Given the description of an element on the screen output the (x, y) to click on. 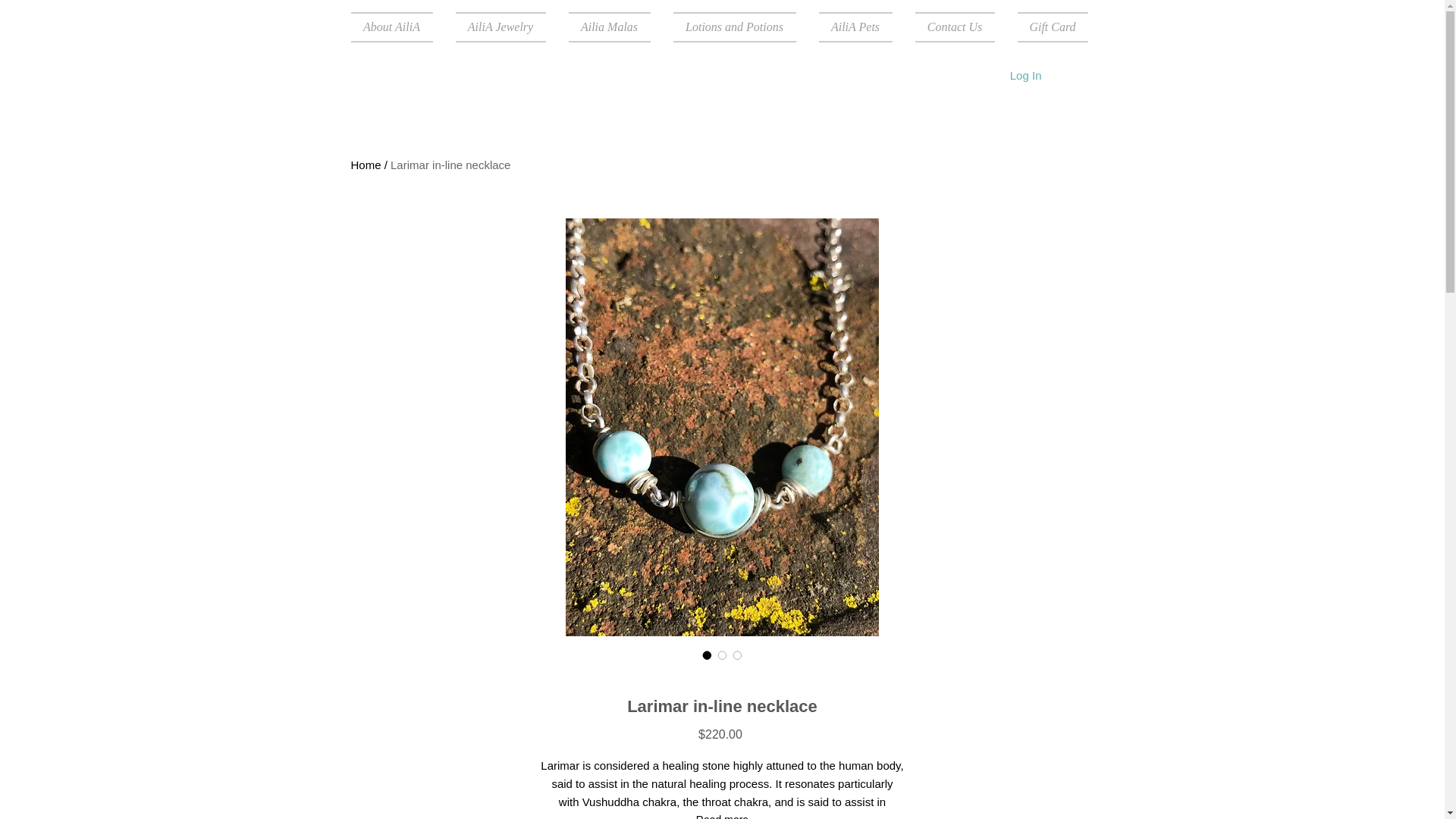
AiliA Jewelry (500, 27)
Read more (722, 815)
Gift Card (1046, 27)
Log In (1025, 74)
Larimar in-line necklace (450, 164)
AiliA Pets (854, 27)
Contact Us (955, 27)
About AiliA (397, 27)
Home (365, 164)
Ailia Malas (608, 27)
